Given the description of an element on the screen output the (x, y) to click on. 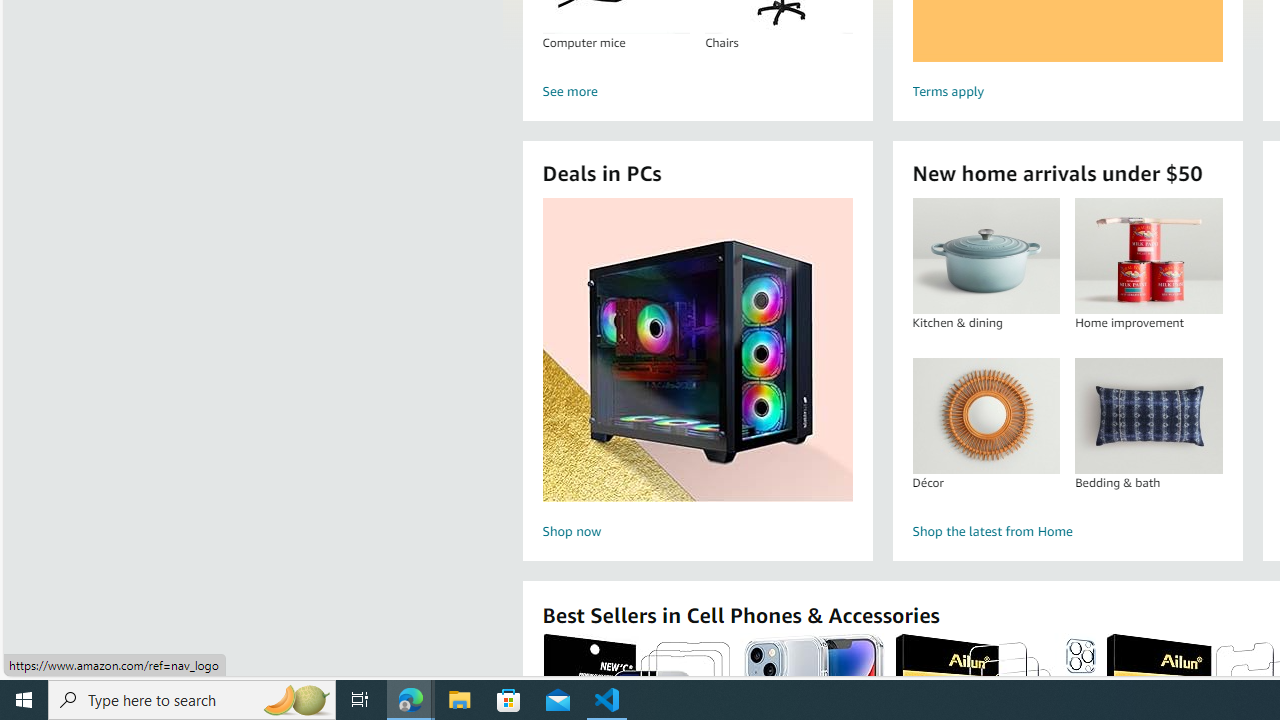
Shop the latest from Home (1066, 532)
Deals in PCs (697, 349)
Kitchen & dining (986, 256)
See more (696, 92)
Bedding & bath (1148, 415)
Home improvement (1148, 256)
Bedding & bath (1148, 415)
Home improvement (1148, 256)
Kitchen & dining (985, 256)
Deals in PCs Shop now (697, 371)
